Given the description of an element on the screen output the (x, y) to click on. 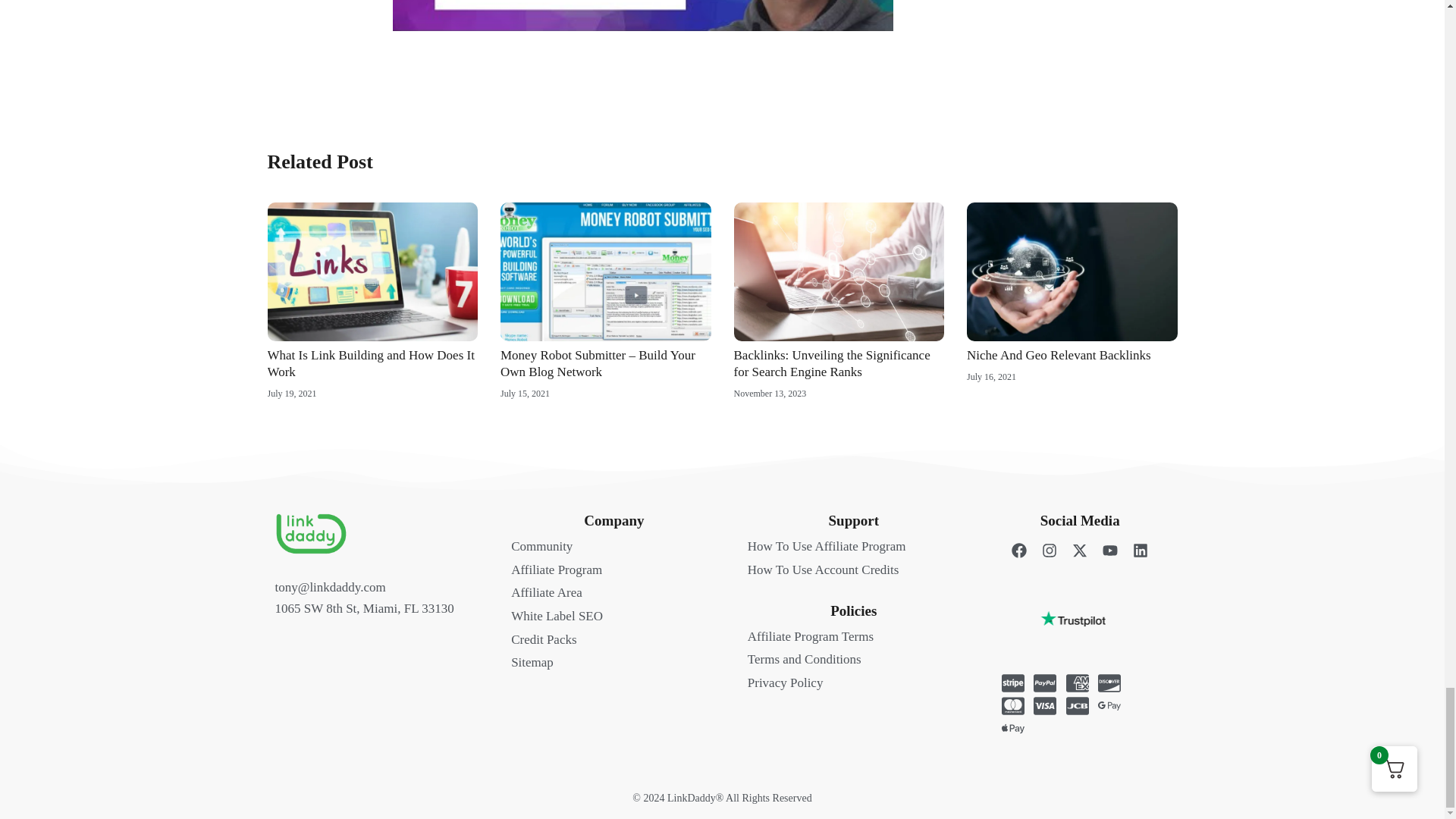
Customer reviews powered by Trustpilot (1088, 627)
